Given the description of an element on the screen output the (x, y) to click on. 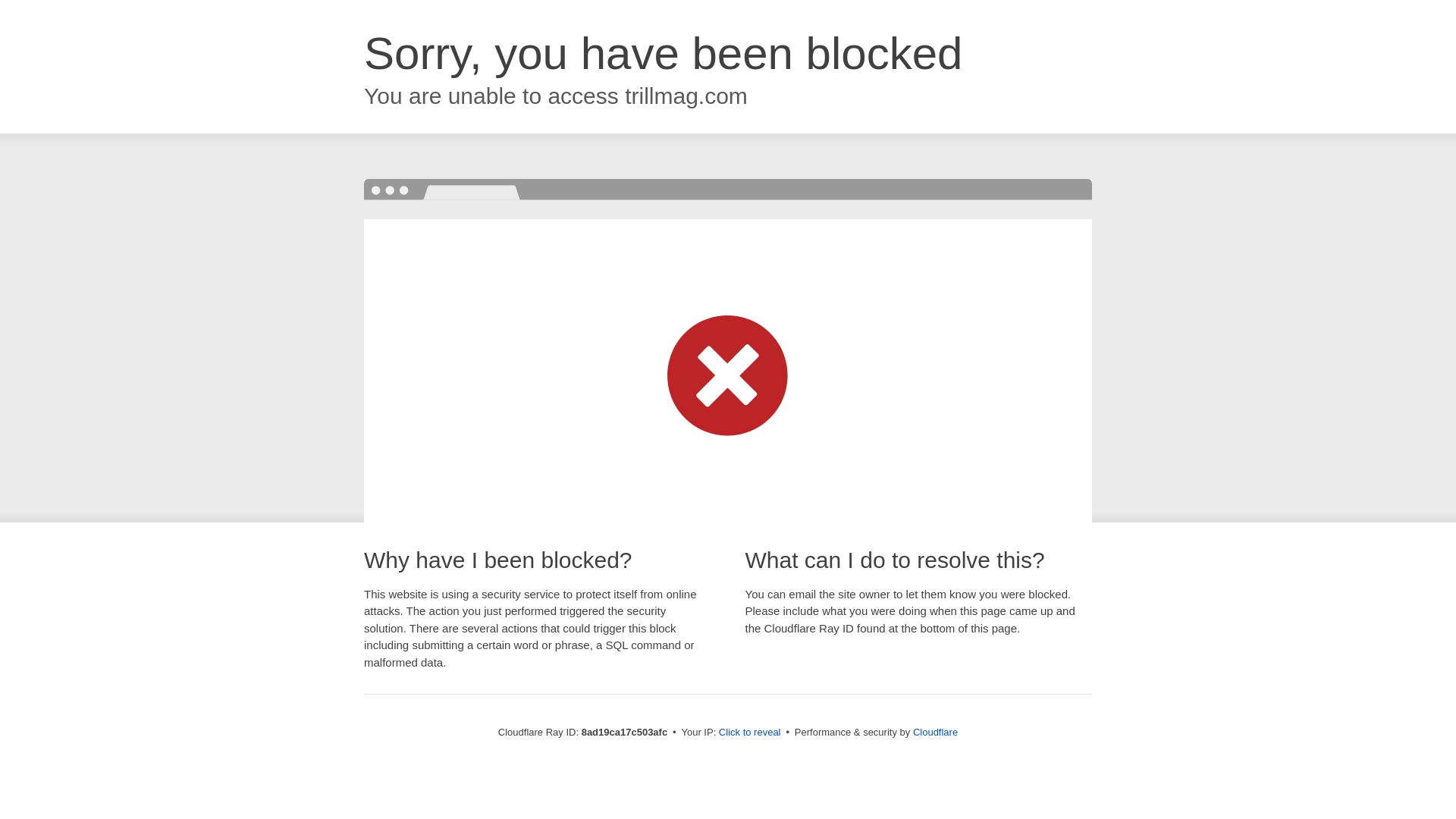
Click to reveal (749, 732)
Cloudflare (935, 731)
